Given the description of an element on the screen output the (x, y) to click on. 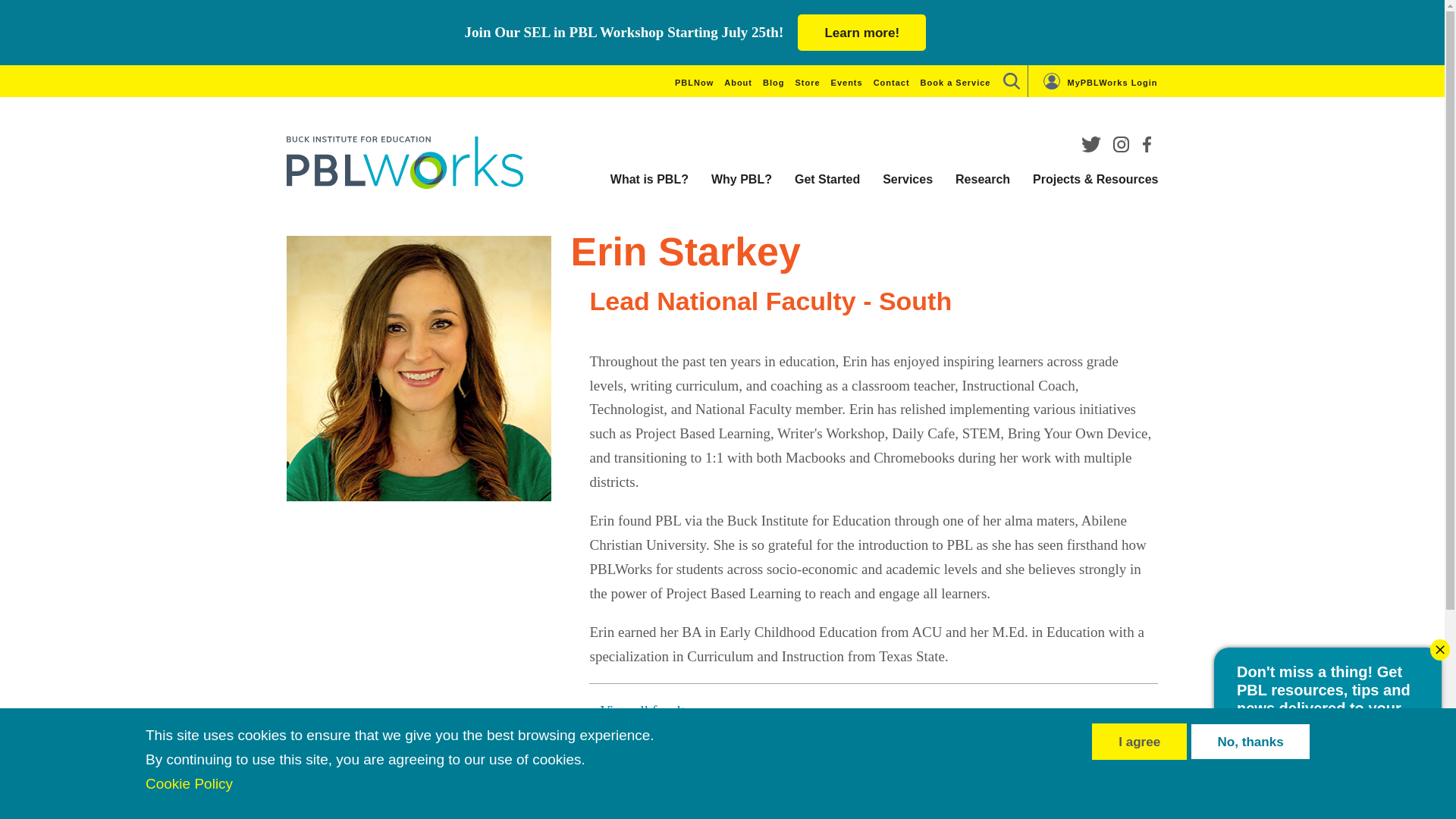
Sign Up (1401, 791)
Home (404, 162)
Learn more! (861, 32)
Sign Up (646, 811)
